Given the description of an element on the screen output the (x, y) to click on. 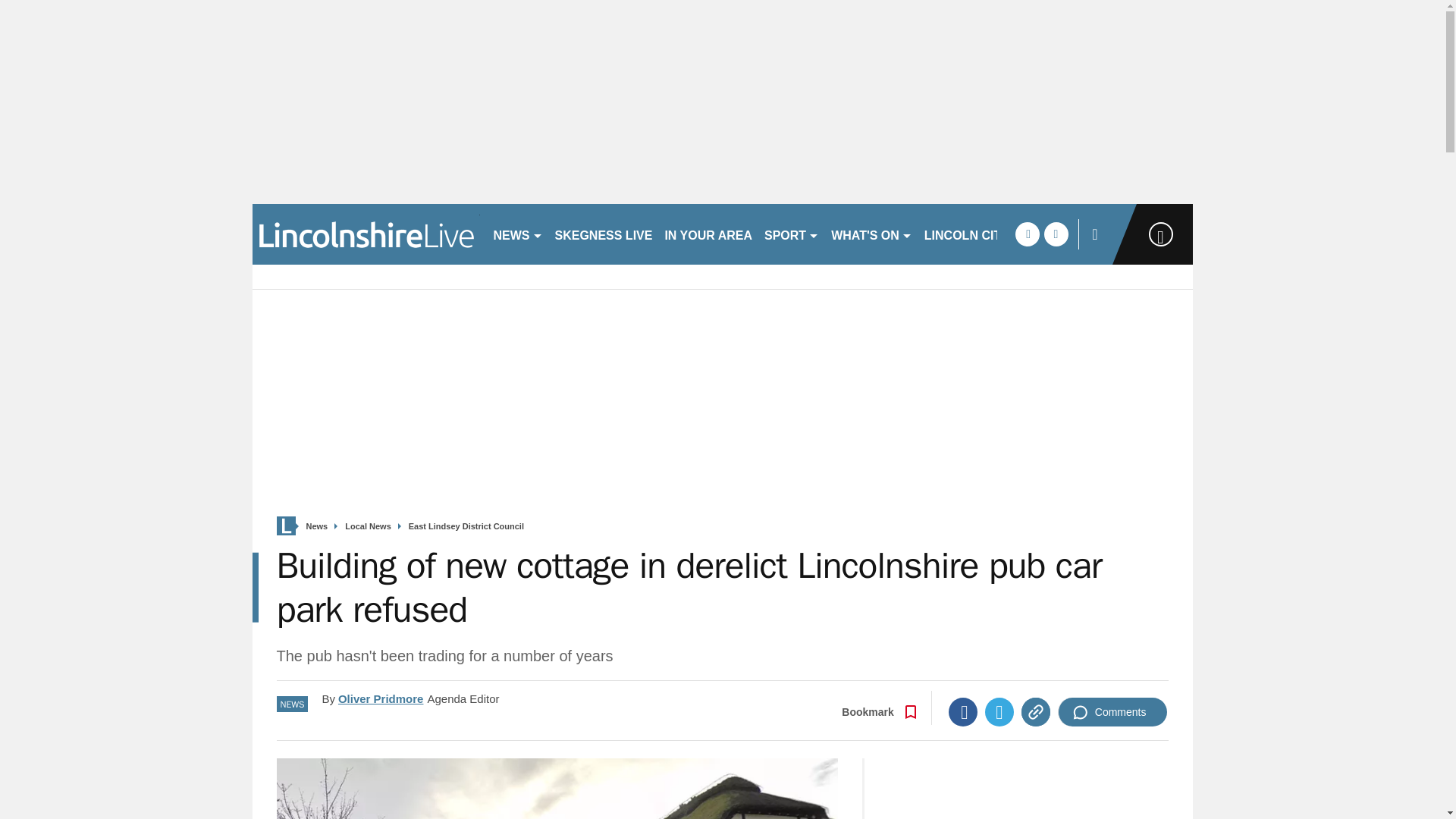
Comments (1112, 758)
NEWS (517, 233)
SKEGNESS LIVE (603, 233)
Facebook (962, 758)
lincolnshirelive (365, 233)
facebook (1026, 233)
IN YOUR AREA (708, 233)
twitter (1055, 233)
Twitter (999, 758)
BUY A PAPER (301, 300)
MORE (948, 233)
SPORT (791, 233)
WHAT'S ON (871, 233)
